Given the description of an element on the screen output the (x, y) to click on. 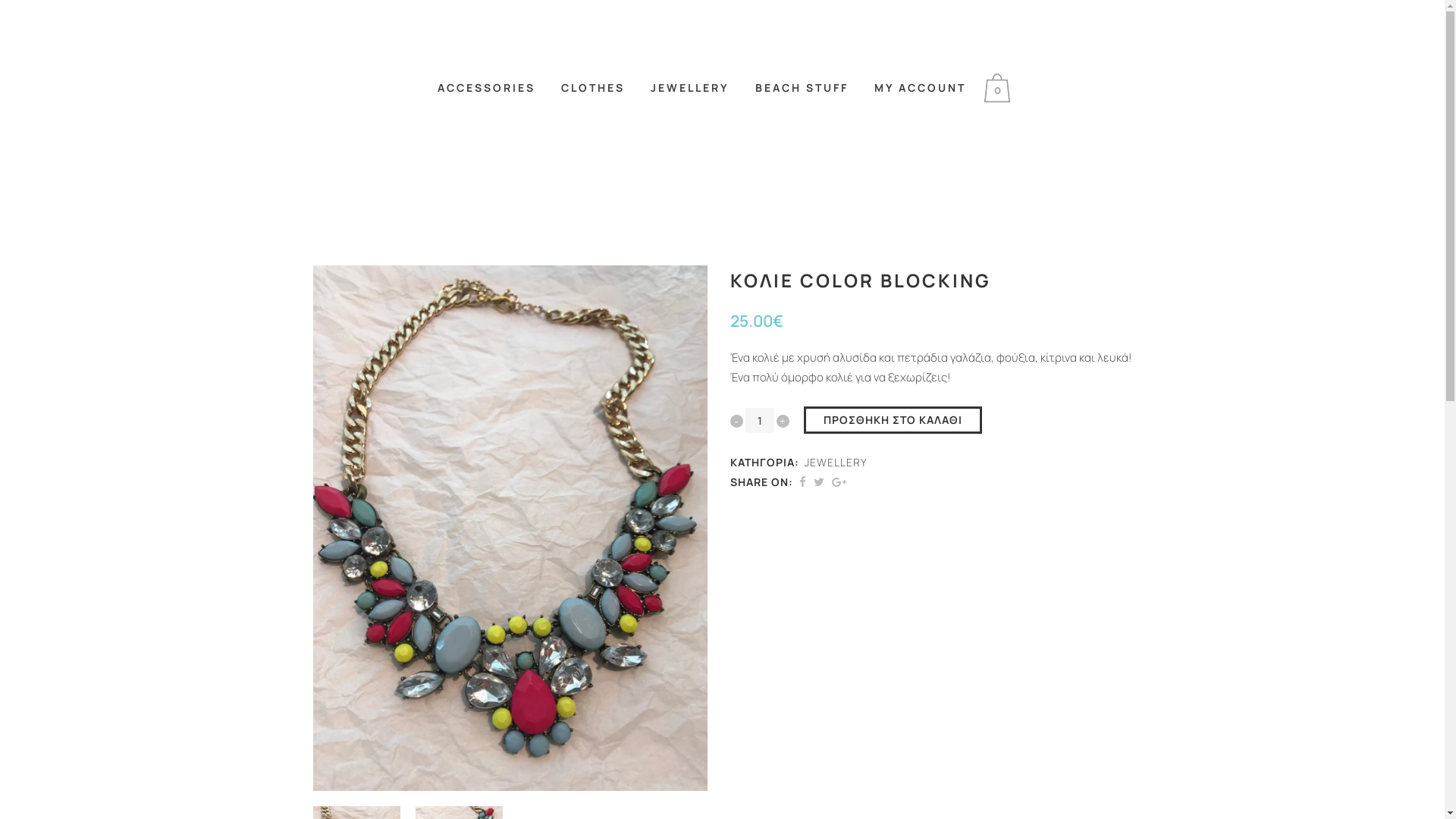
0 Element type: text (1000, 87)
Share on Facebook Element type: hover (802, 481)
BEACH STUFF Element type: text (801, 87)
JEWELLERY Element type: text (834, 462)
ACCESSORIES Element type: text (486, 87)
Share on Twitter Element type: hover (817, 481)
CLOTHES Element type: text (592, 87)
Share on Google+ Element type: hover (838, 481)
Qty Element type: hover (758, 420)
JEWELLERY Element type: text (689, 87)
Color-blocking3 Element type: hover (509, 527)
MY ACCOUNT Element type: text (920, 87)
